Given the description of an element on the screen output the (x, y) to click on. 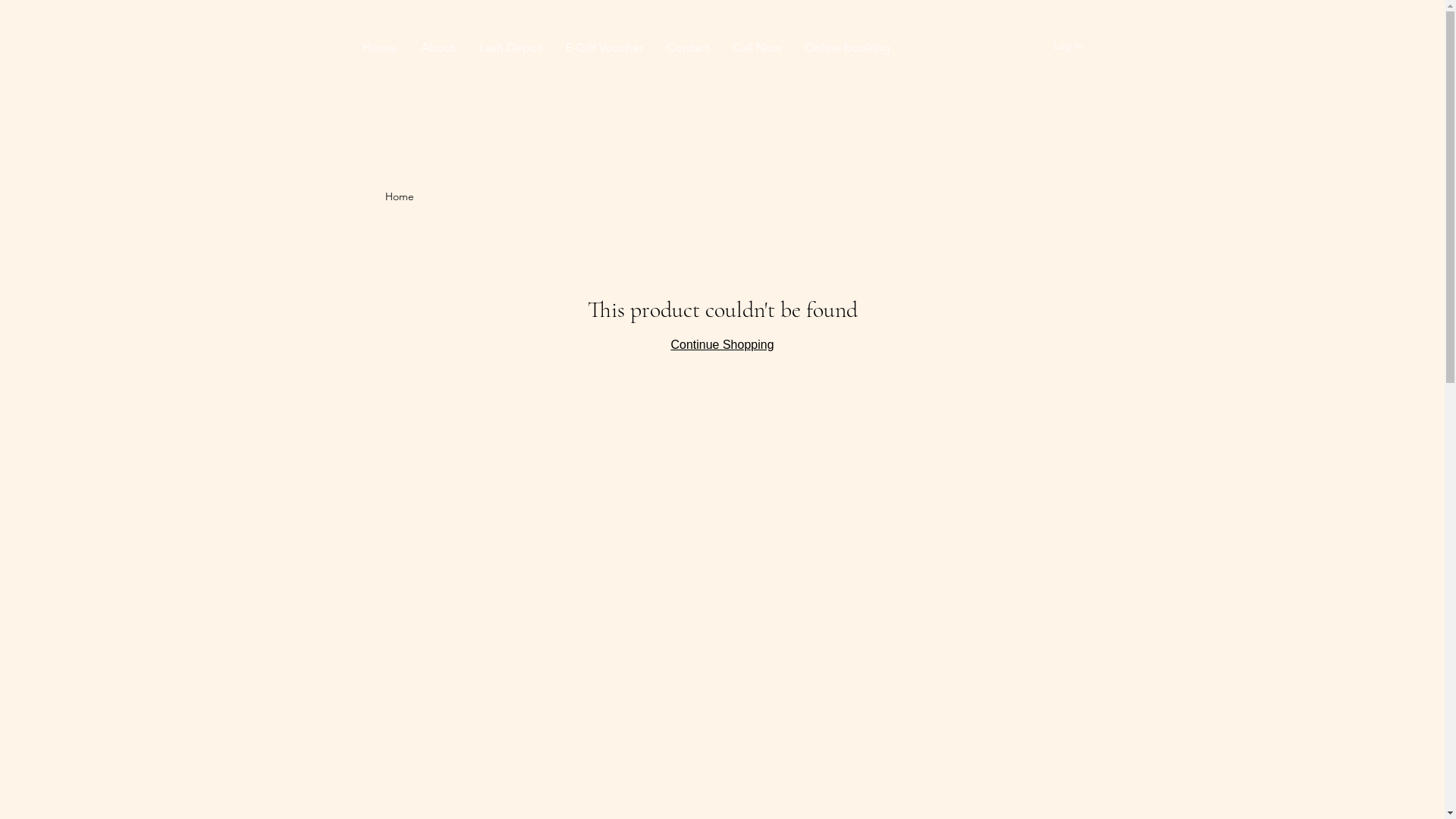
Home Element type: text (399, 196)
Online booking Element type: text (847, 47)
Log In Element type: text (1052, 45)
Home Element type: text (379, 47)
Continue Shopping Element type: text (721, 344)
E-Gift Voucher Element type: text (603, 47)
Call Now Element type: text (756, 47)
Contact Element type: text (688, 47)
